Given the description of an element on the screen output the (x, y) to click on. 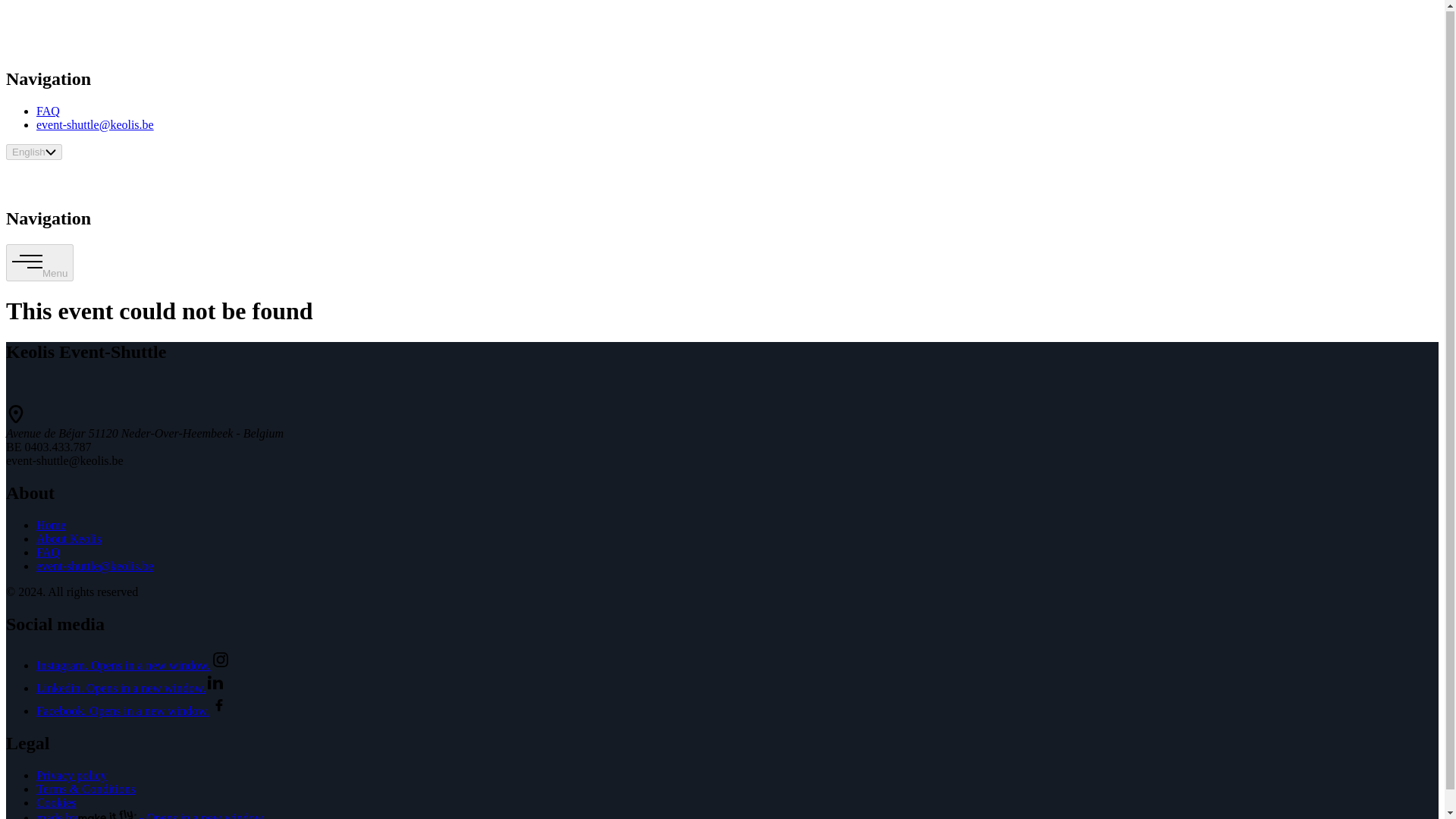
Menu (39, 262)
About Keolis (68, 538)
Privacy policy (71, 775)
Cookies (55, 802)
FAQ (47, 552)
Facebook. Opens in a new window. (132, 710)
FAQ (47, 110)
Instagram. Opens in a new window. (133, 665)
Linkedin. Opens in a new window. (130, 687)
Home (50, 524)
English (33, 151)
